Given the description of an element on the screen output the (x, y) to click on. 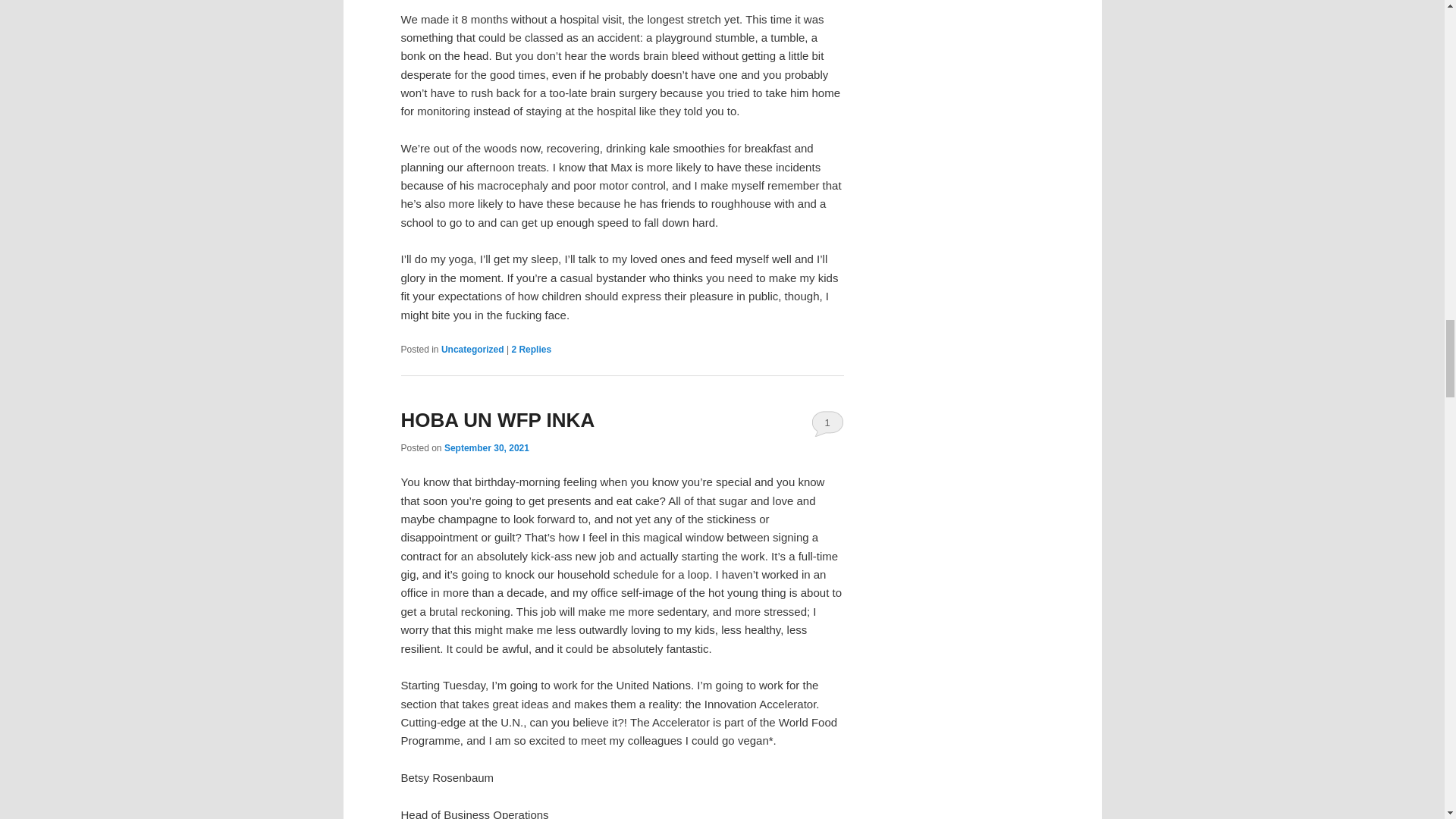
HOBA UN WFP INKA (497, 419)
September 30, 2021 (486, 448)
1 (827, 422)
10:12 am (486, 448)
Permalink to HOBA UN WFP INKA (497, 419)
2 Replies (531, 348)
Uncategorized (472, 348)
